Given the description of an element on the screen output the (x, y) to click on. 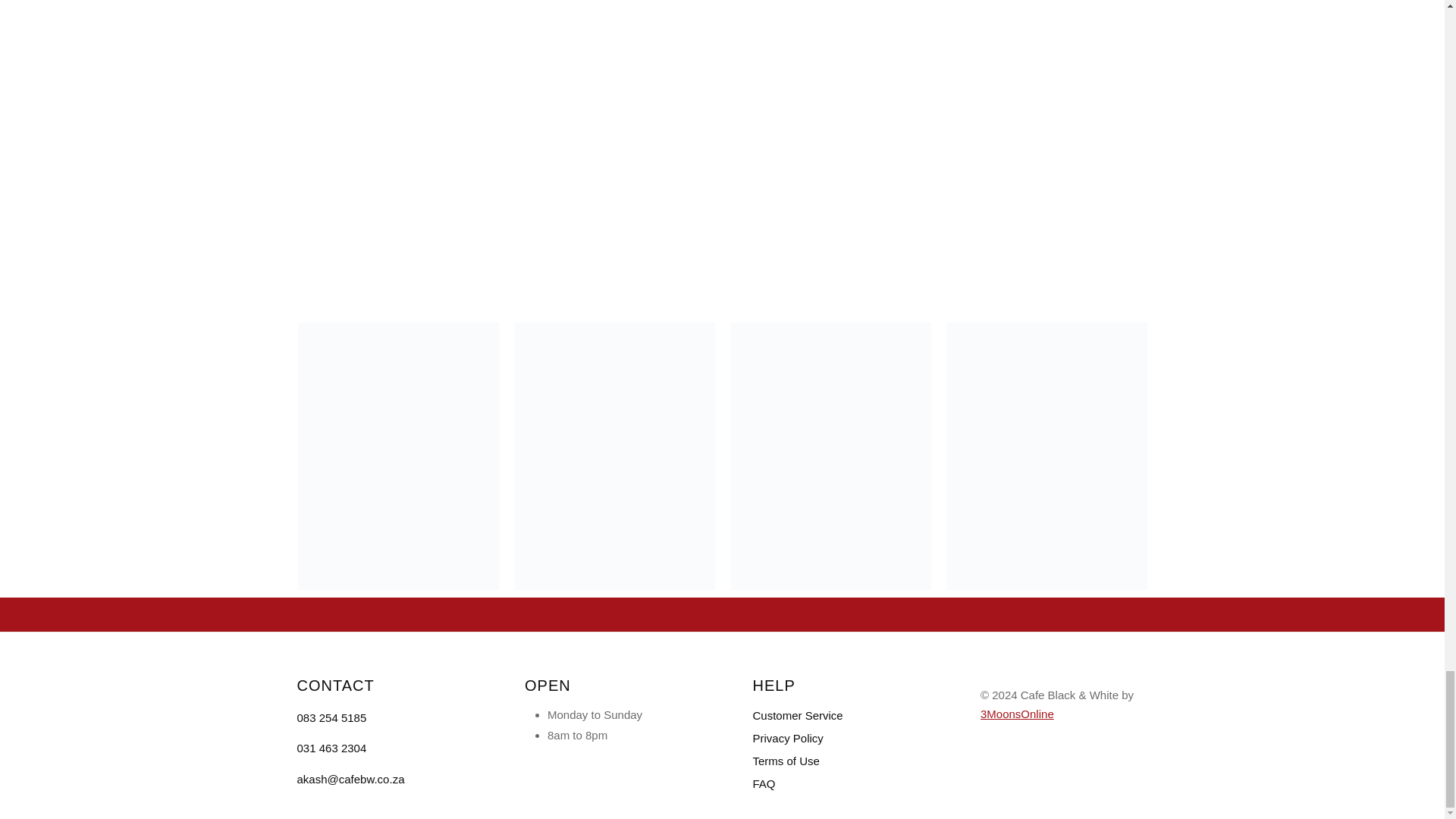
FAQ (836, 784)
Customer Service (836, 715)
Privacy Policy (836, 738)
083 254 5185 (331, 717)
031 463 2304 (331, 748)
Terms of Use (836, 761)
3MoonsOnline (1016, 713)
